Given the description of an element on the screen output the (x, y) to click on. 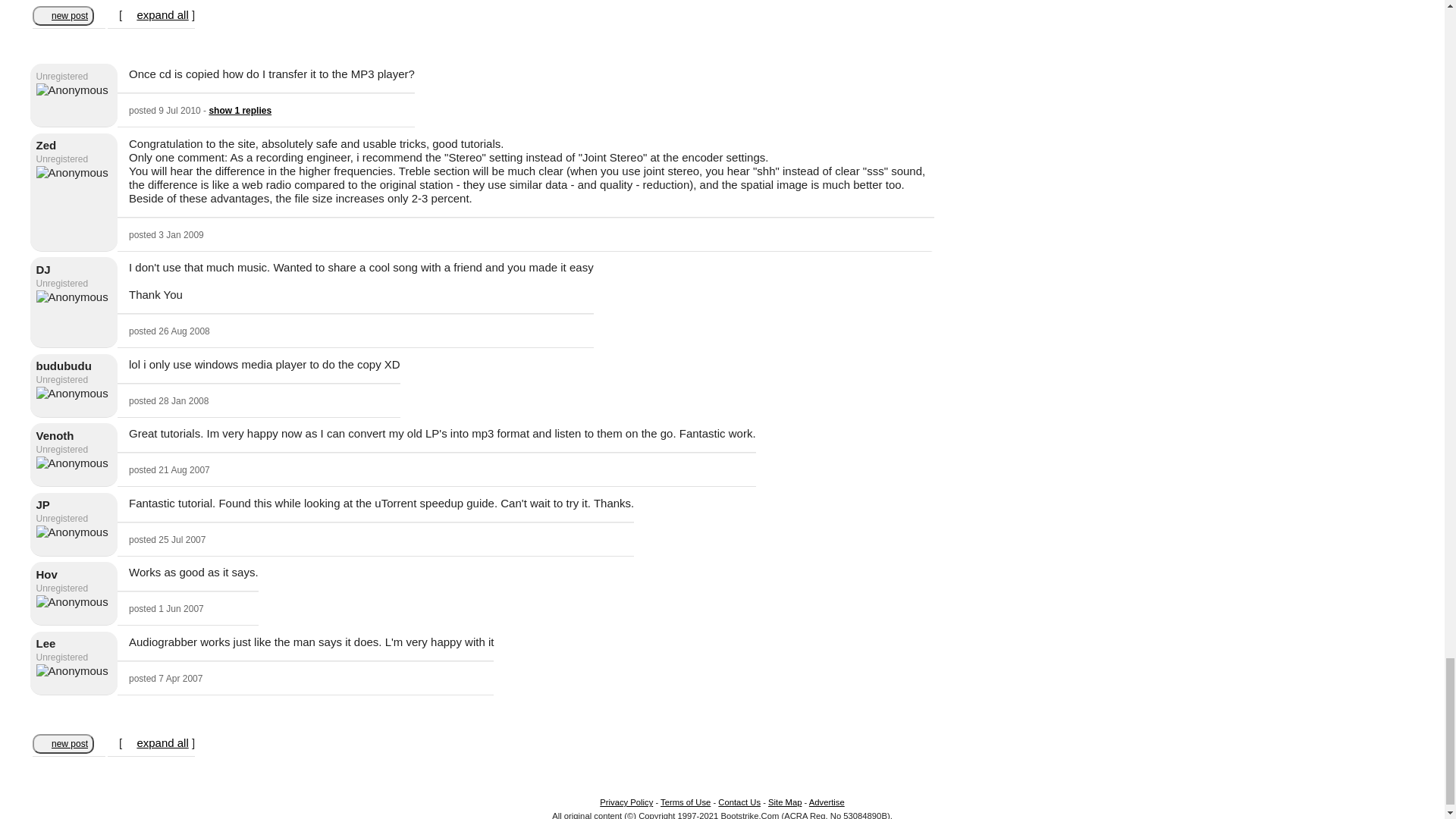
Anonymous (71, 172)
new post (63, 742)
Anonymous (71, 463)
Anonymous (71, 90)
Anonymous (71, 393)
Anonymous (71, 296)
expand all (161, 742)
expand all (161, 14)
Anonymous (71, 531)
new post (63, 14)
show 1 replies (239, 110)
